Given the description of an element on the screen output the (x, y) to click on. 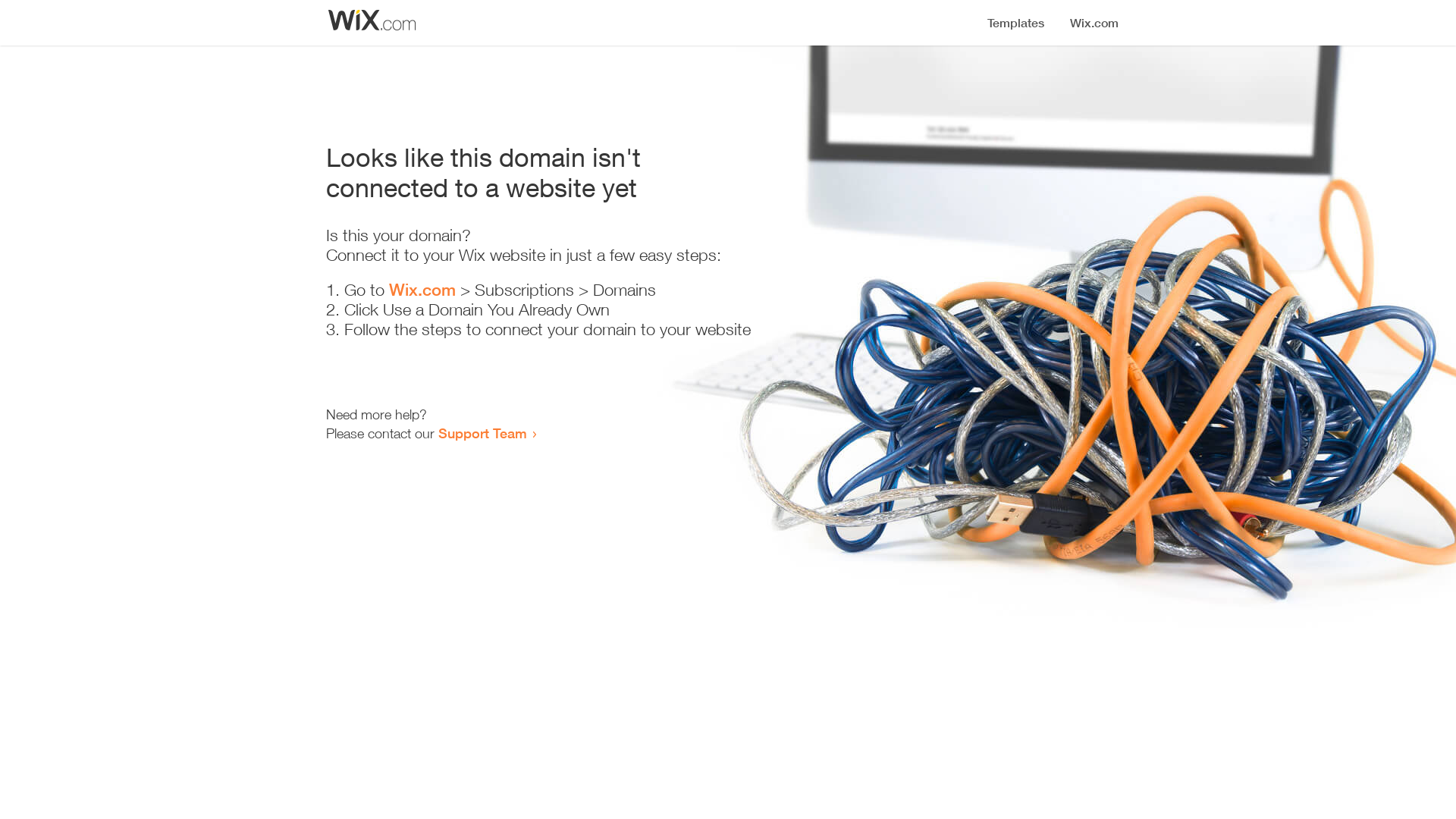
Support Team Element type: text (482, 432)
Wix.com Element type: text (422, 289)
